Given the description of an element on the screen output the (x, y) to click on. 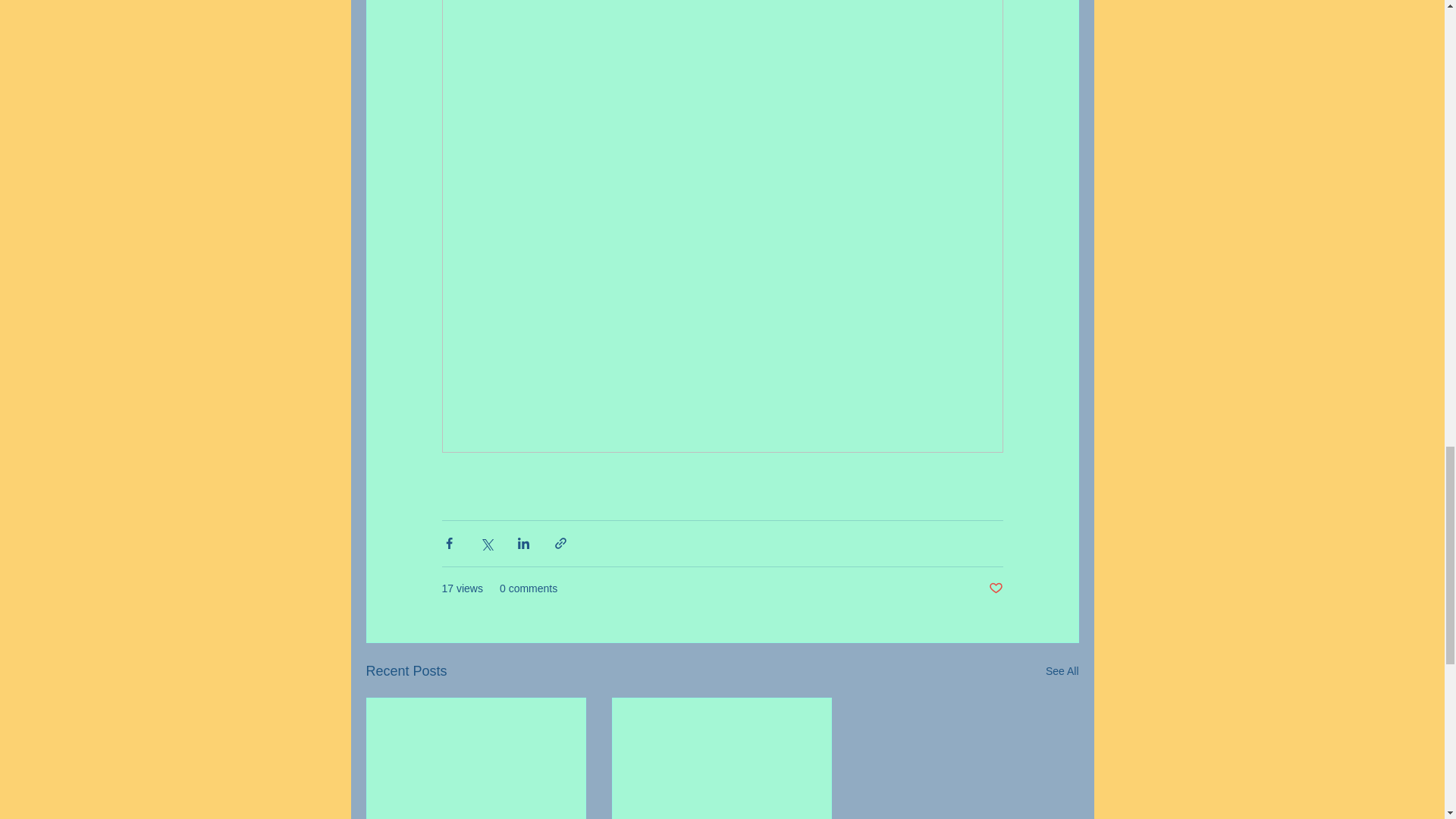
See All (1061, 671)
Post not marked as liked (995, 588)
